Given the description of an element on the screen output the (x, y) to click on. 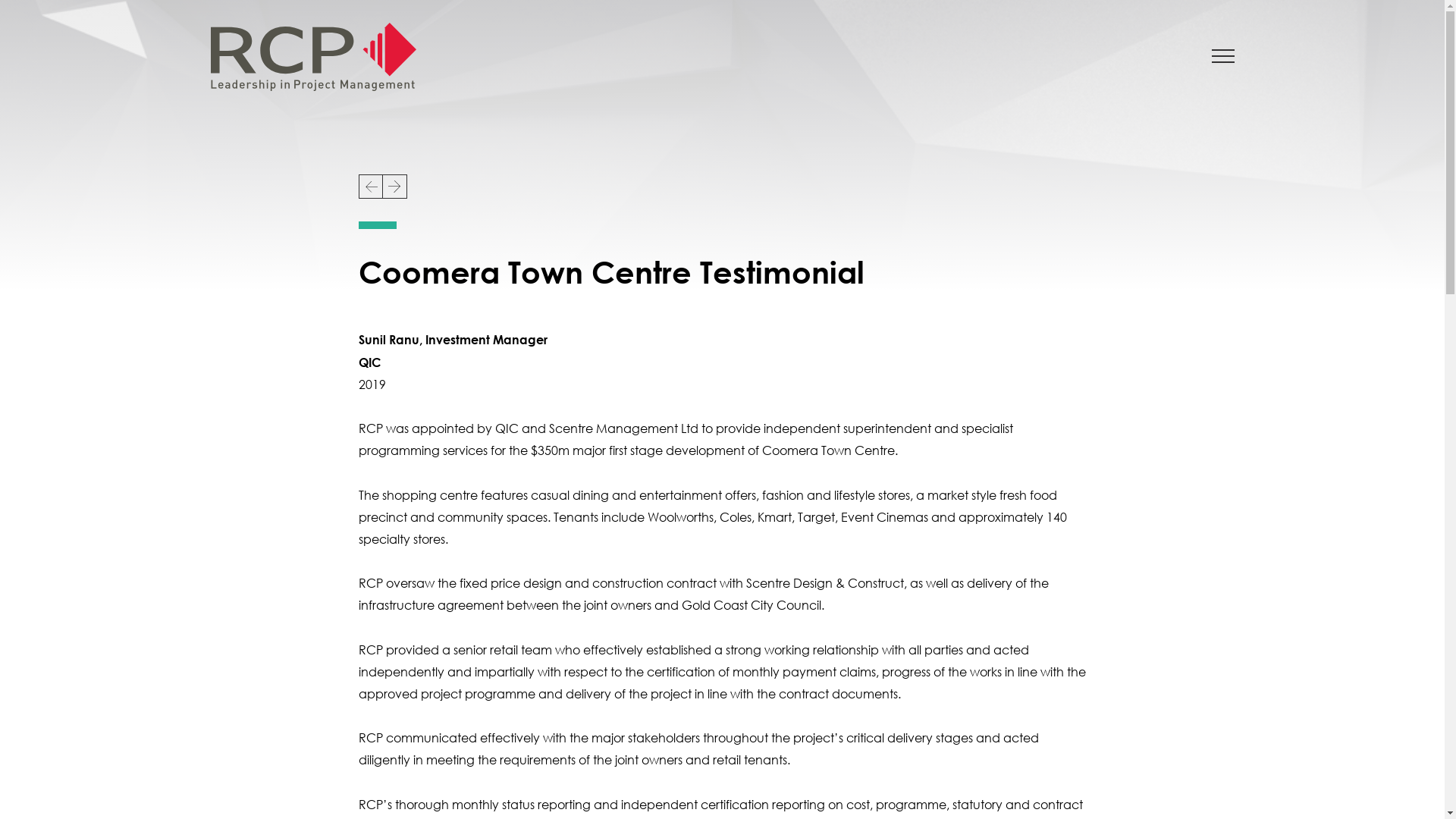
InterContinental Testimonial Element type: hover (394, 186)
83 Pirie Street Testimonial Element type: hover (369, 186)
Search Element type: text (32, 16)
